Given the description of an element on the screen output the (x, y) to click on. 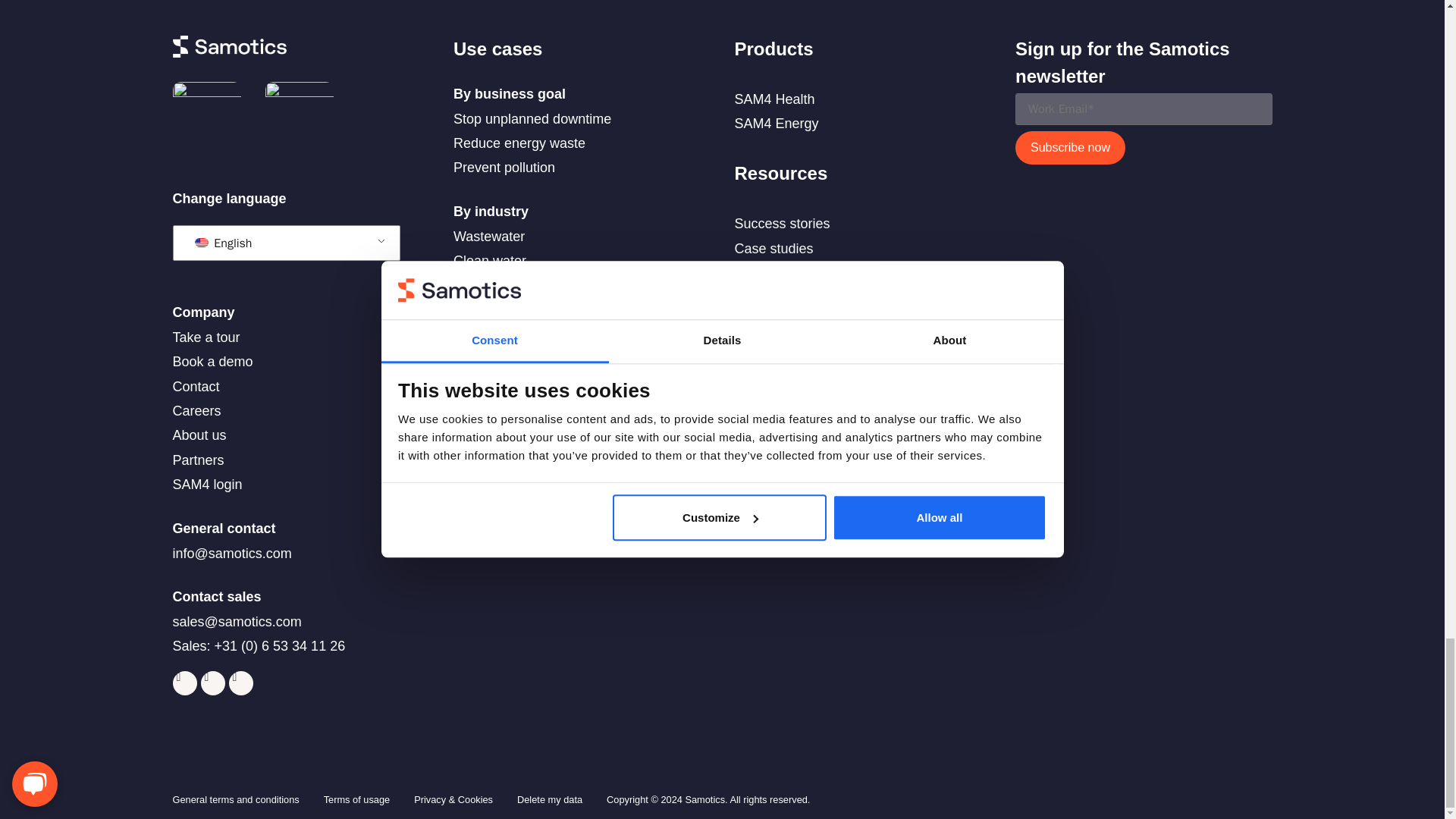
Subscribe now (1069, 148)
